Given the description of an element on the screen output the (x, y) to click on. 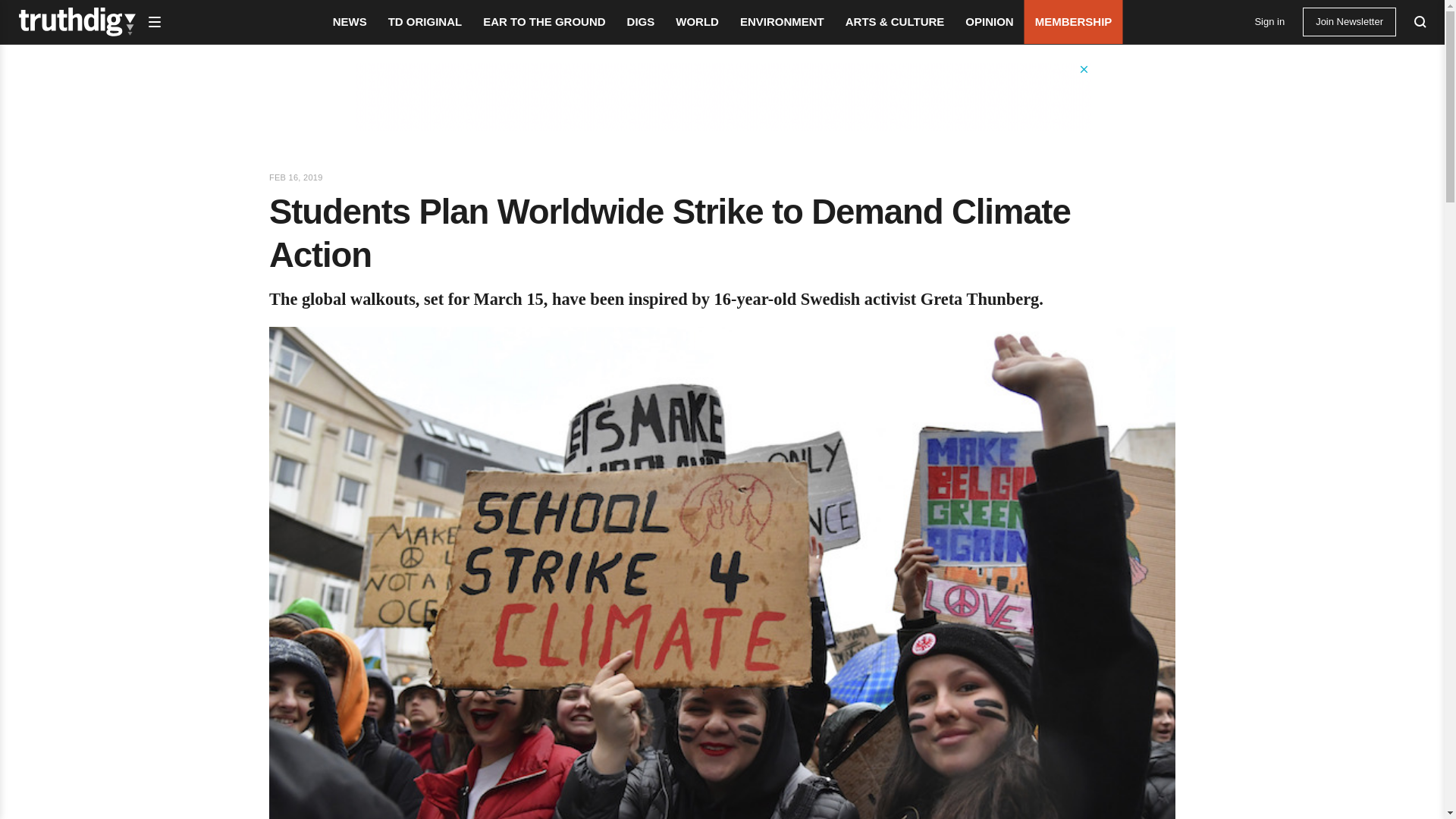
3rd party ad content (722, 97)
